Given the description of an element on the screen output the (x, y) to click on. 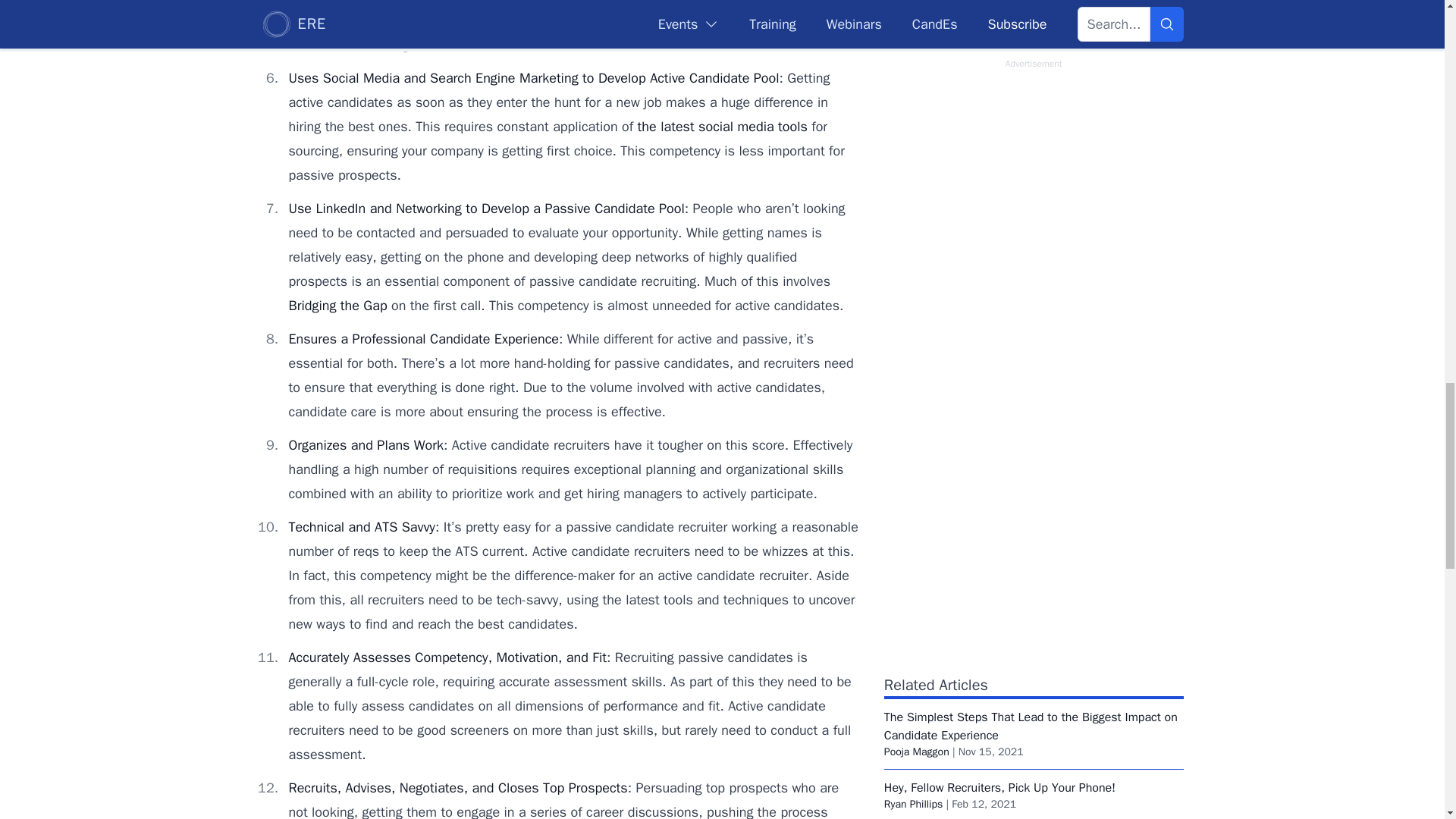
Hey, Fellow Recruiters, Pick Up Your Phone! (999, 787)
Ryan Phillips (912, 803)
Bridging the Gap (337, 305)
the latest social media tools (722, 126)
Pooja Maggon (916, 751)
